Given the description of an element on the screen output the (x, y) to click on. 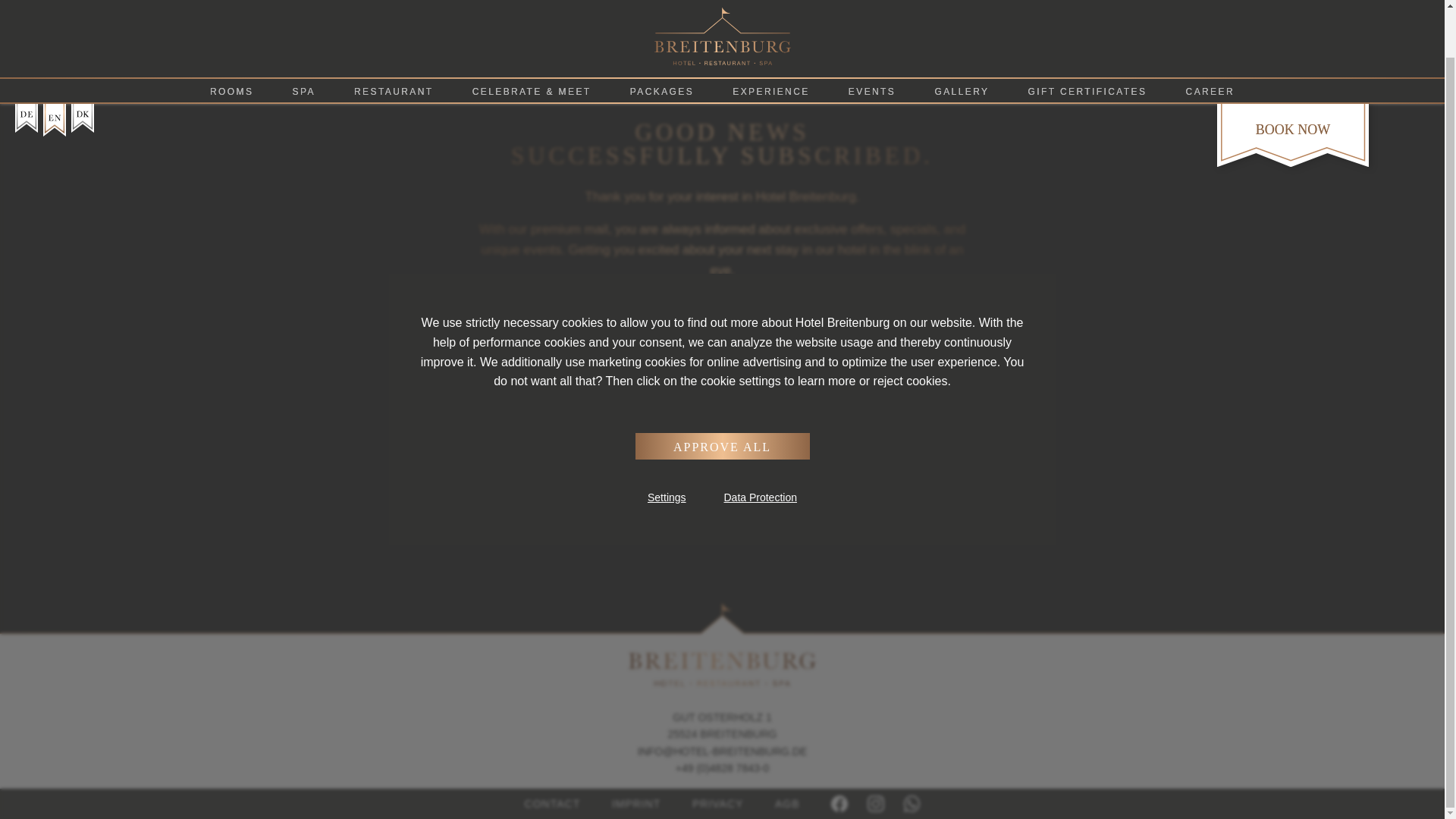
PACKAGES (661, 40)
RESTAURANT (393, 40)
PRIVACY (717, 803)
Data Protection (759, 446)
GIFT CERTIFICATES (1087, 40)
IMPRINT (636, 803)
EVENTS (871, 40)
SPA (303, 40)
EXPERIENCE (771, 40)
BOOK NOW (1292, 78)
